Given the description of an element on the screen output the (x, y) to click on. 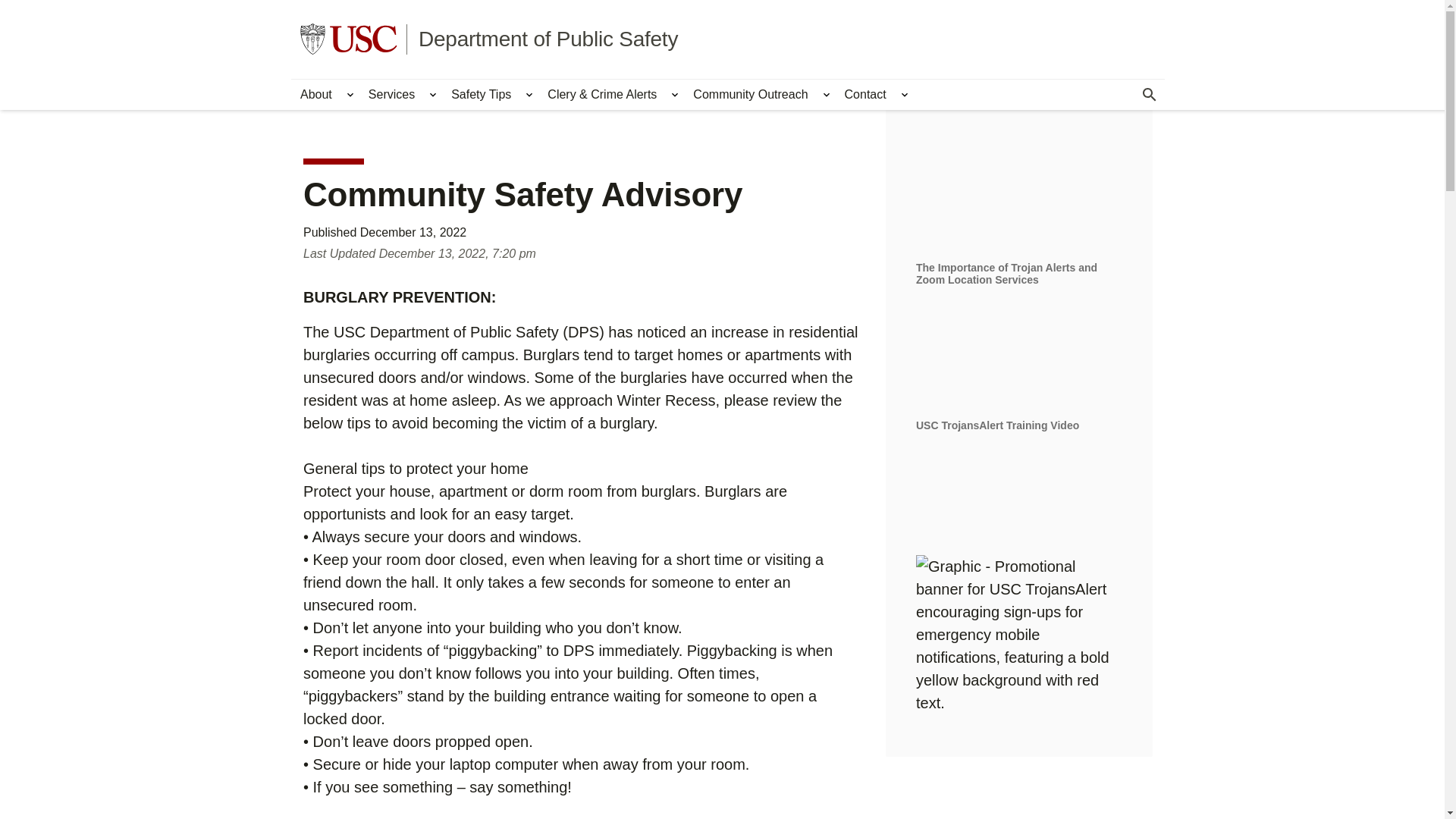
Safety Tips (480, 94)
Department of Public Safety (548, 38)
About (315, 94)
Go to usc.edu homepage (348, 39)
TrojansAlert Update Training (1018, 356)
Services (391, 94)
